Given the description of an element on the screen output the (x, y) to click on. 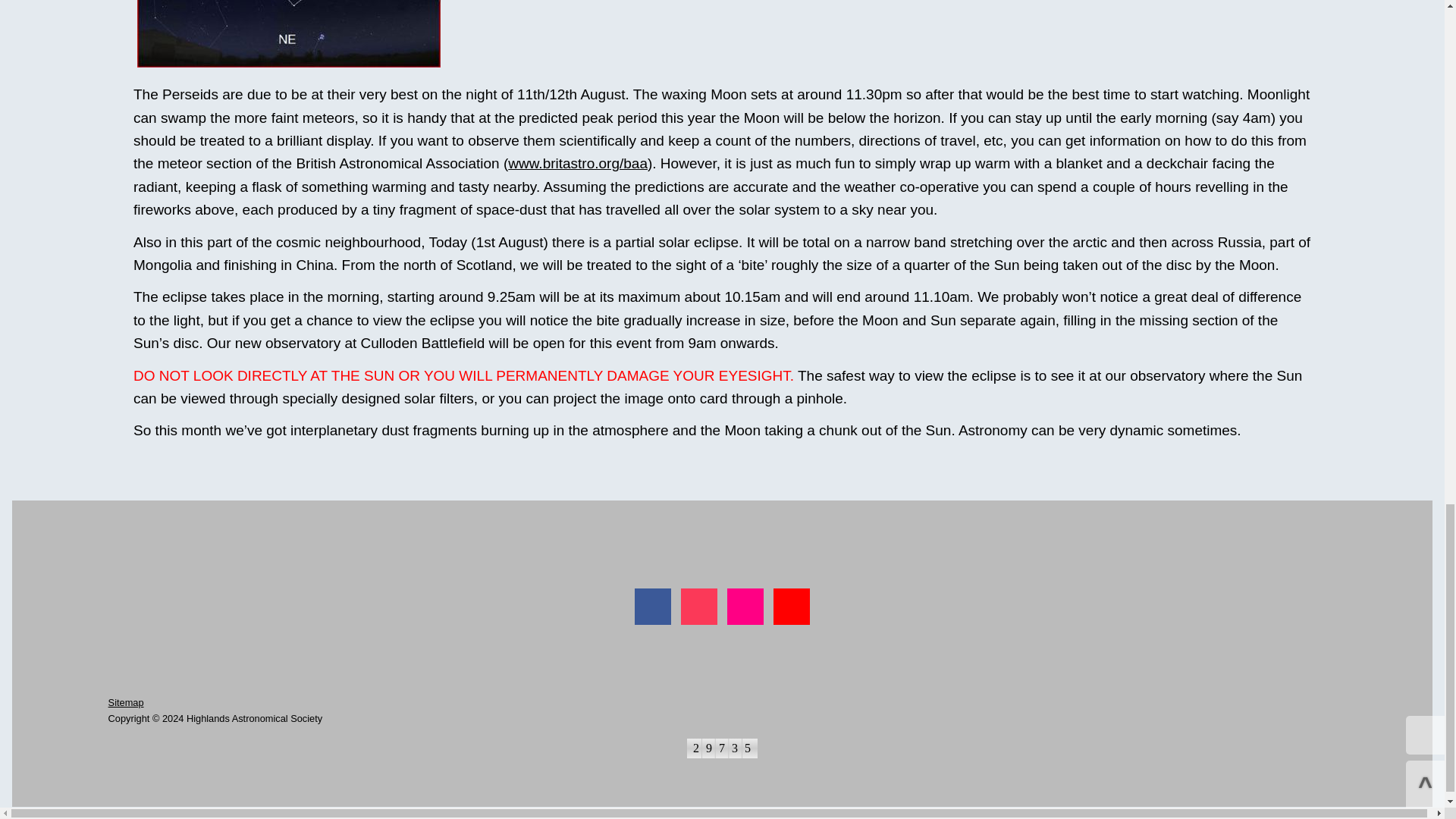
Youtube (791, 606)
Facebook (652, 606)
Instagram (699, 606)
Flickr (744, 606)
